Given the description of an element on the screen output the (x, y) to click on. 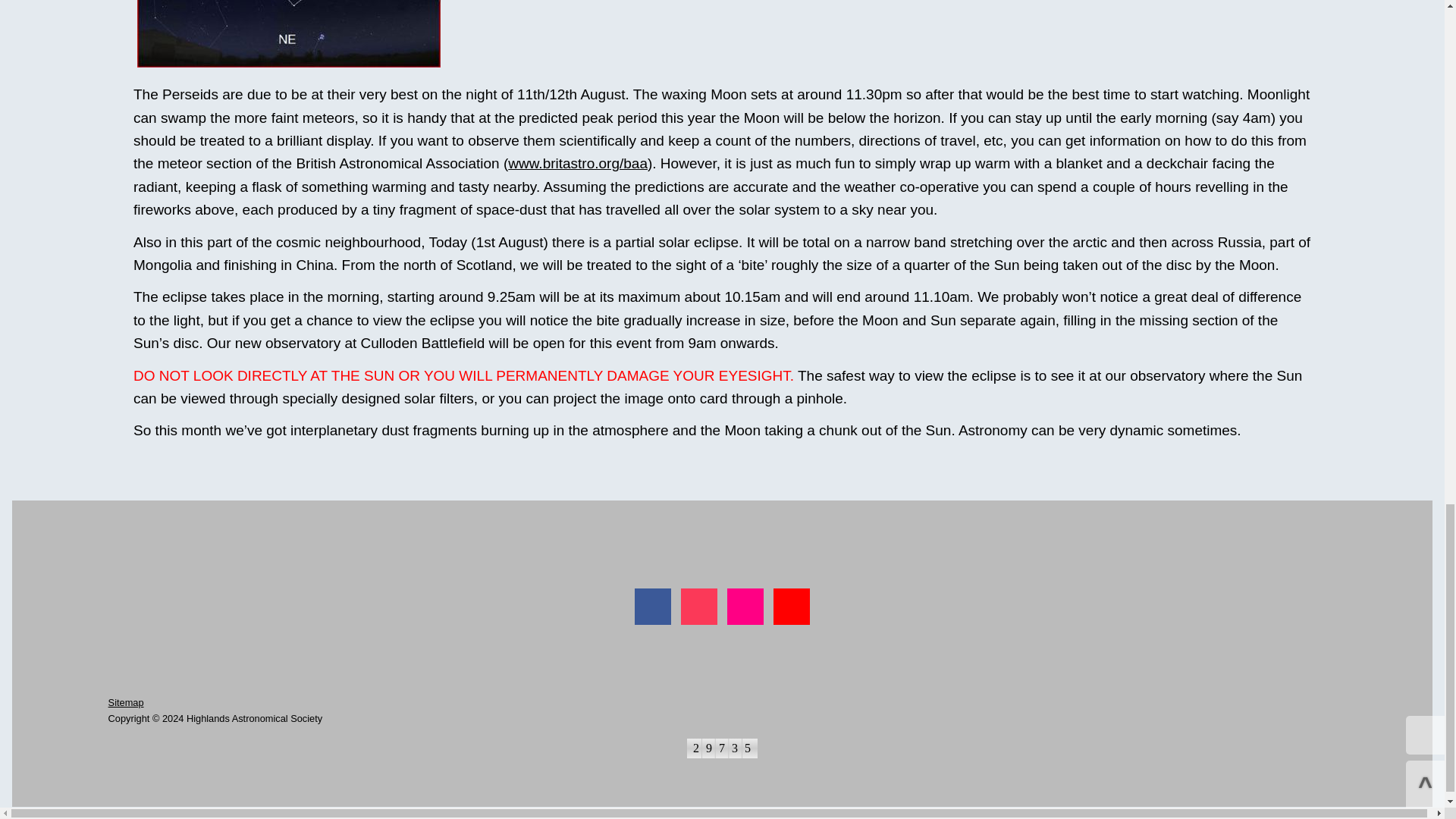
Youtube (791, 606)
Facebook (652, 606)
Instagram (699, 606)
Flickr (744, 606)
